Given the description of an element on the screen output the (x, y) to click on. 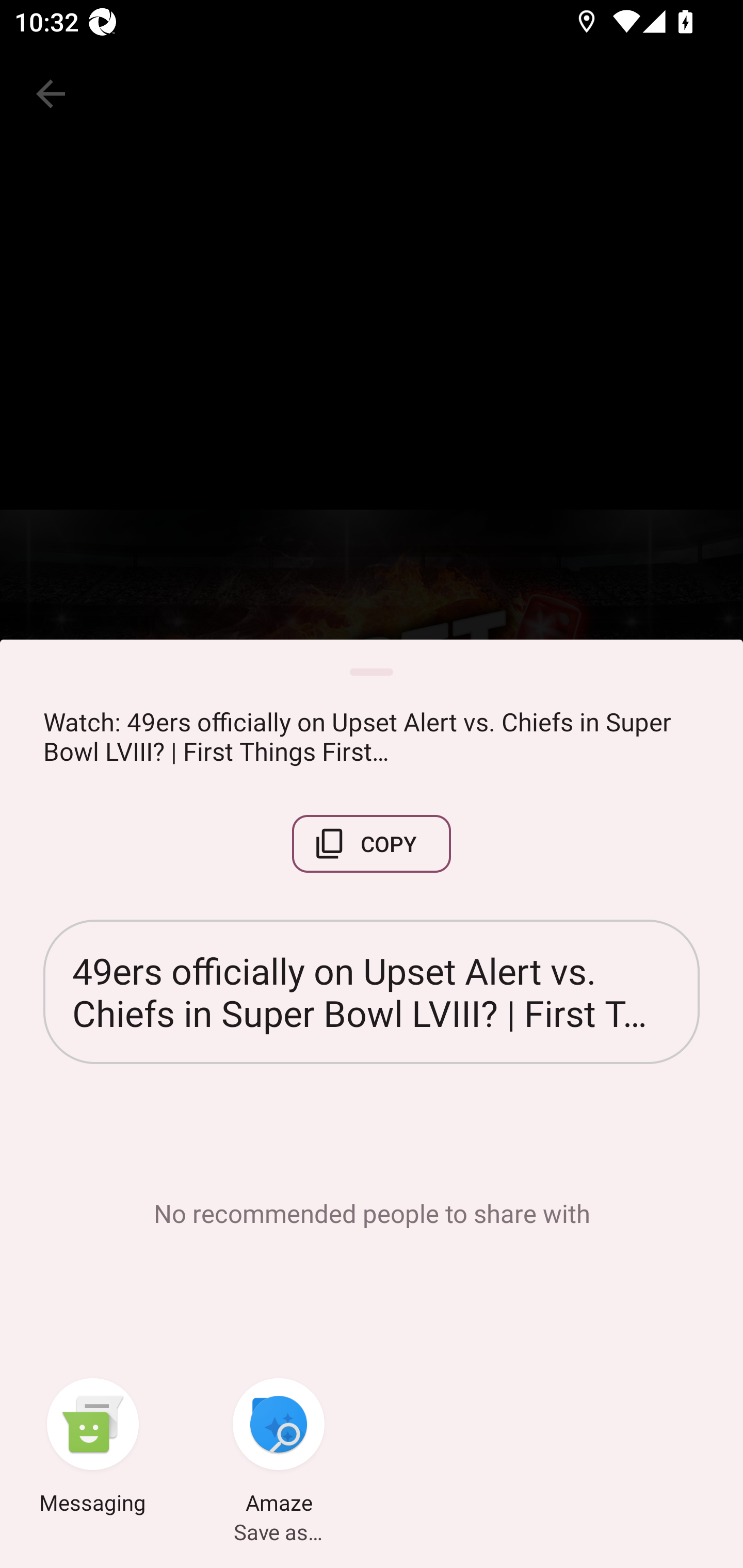
COPY (371, 844)
Messaging (92, 1448)
Amaze Save as… (278, 1448)
